Given the description of an element on the screen output the (x, y) to click on. 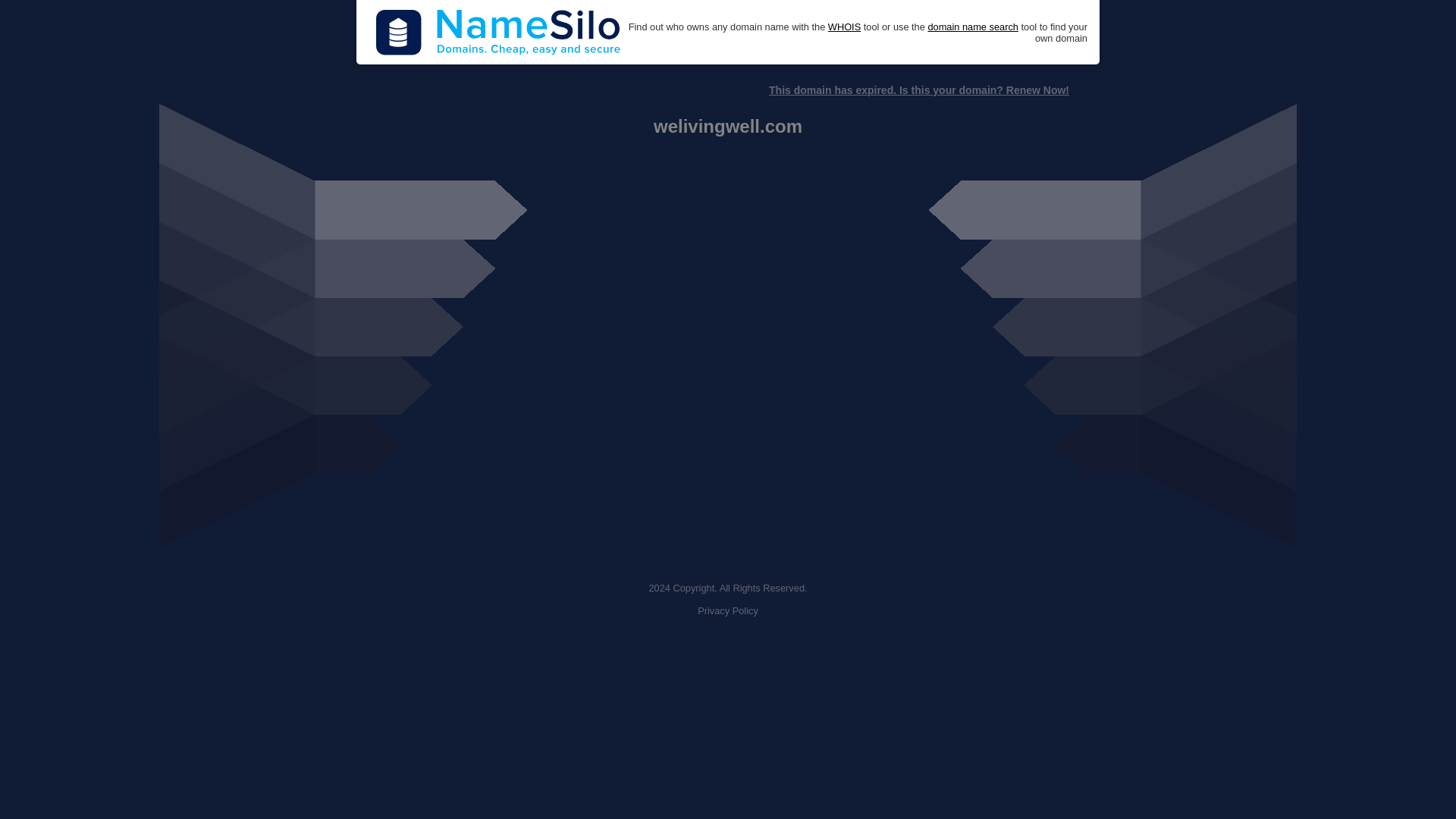
WHOIS (844, 26)
domain name search (972, 26)
Privacy Policy (727, 610)
This domain has expired. Is this your domain? Renew Now! (918, 90)
